Given the description of an element on the screen output the (x, y) to click on. 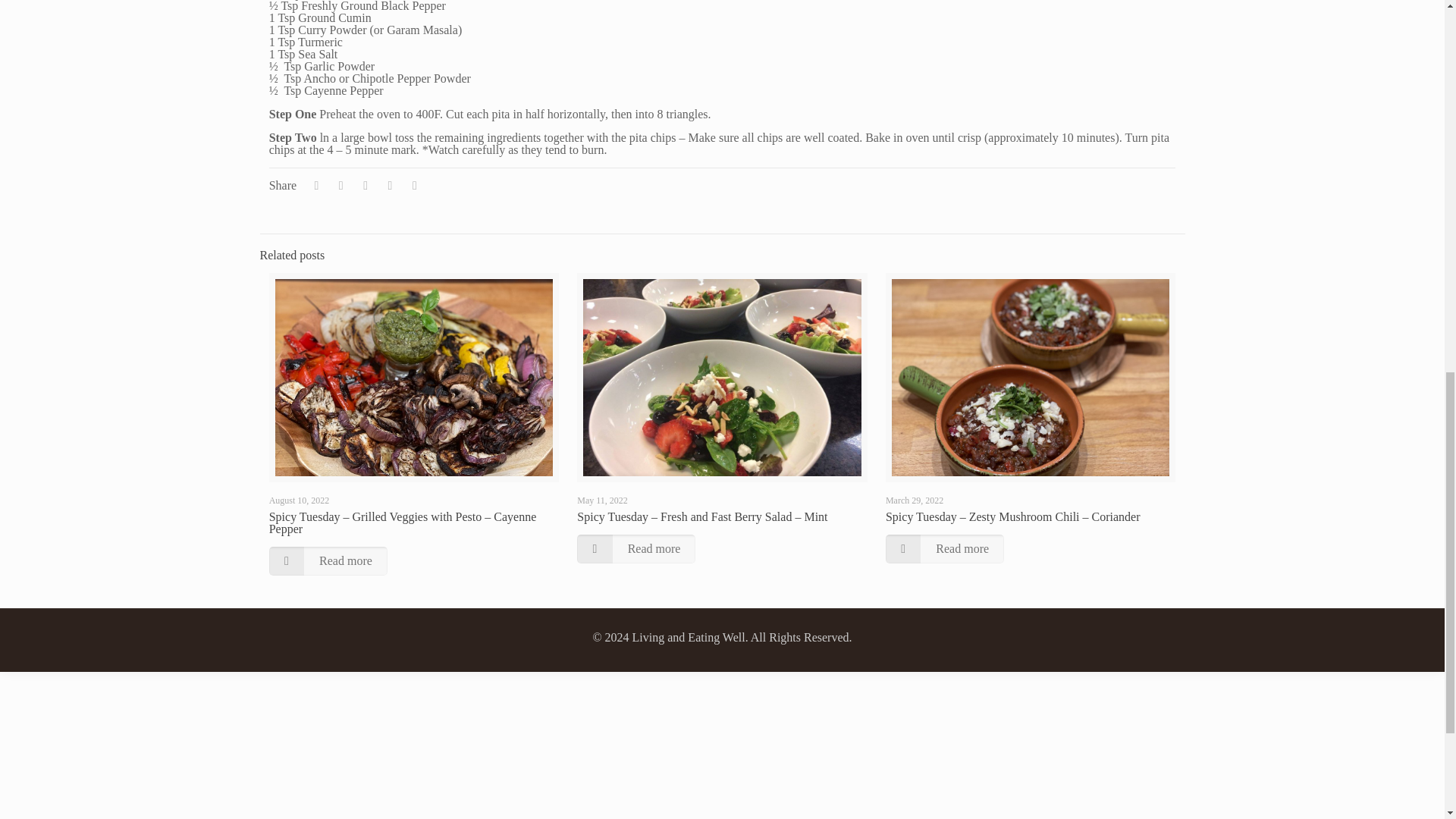
Read more (328, 561)
Read more (944, 548)
Read more (635, 548)
